Given the description of an element on the screen output the (x, y) to click on. 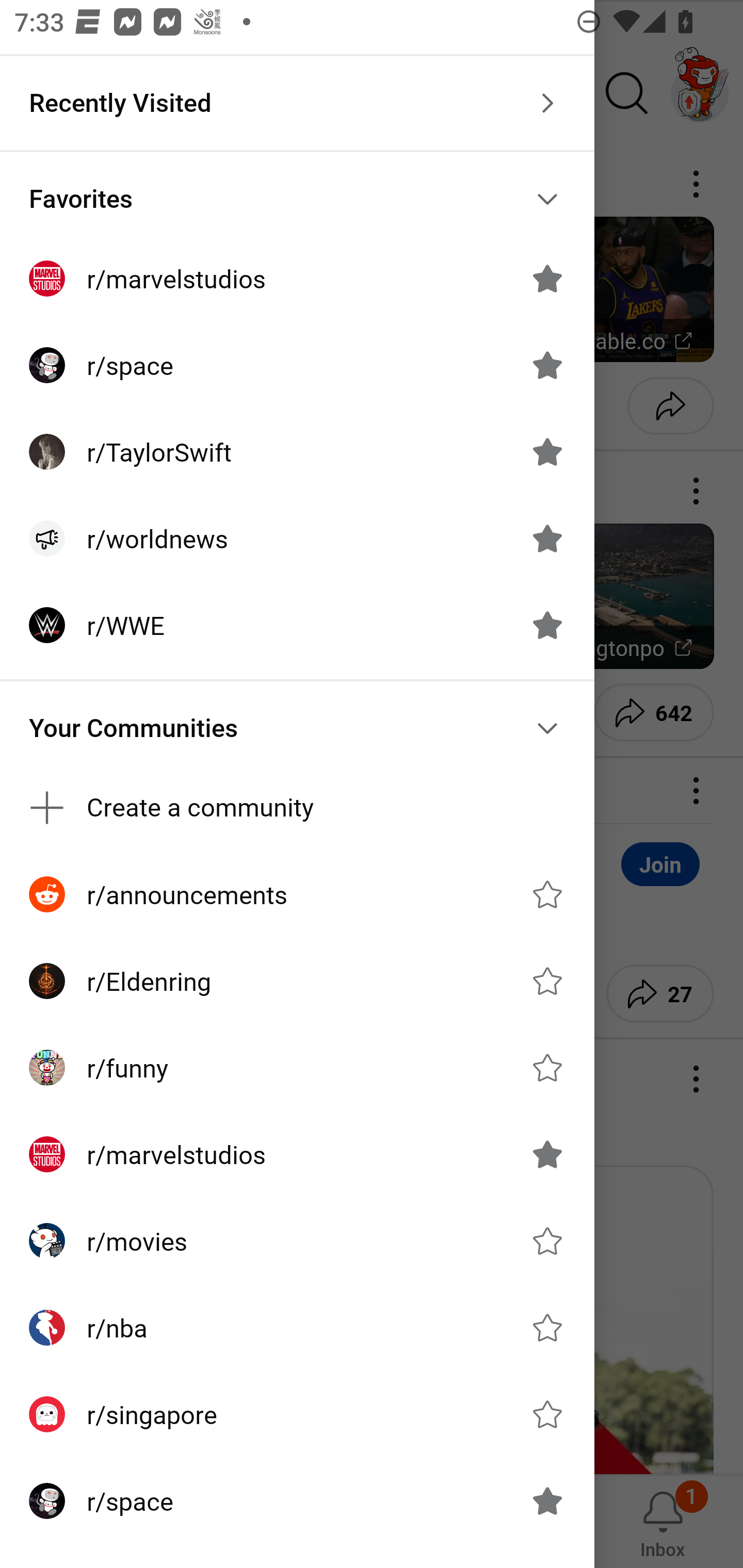
Recently Visited (297, 103)
Favorites (297, 199)
r/marvelstudios Unfavorite r/marvelstudios (297, 278)
Unfavorite r/marvelstudios (546, 278)
r/space Unfavorite r/space (297, 365)
Unfavorite r/space (546, 365)
r/TaylorSwift Unfavorite r/TaylorSwift (297, 452)
Unfavorite r/TaylorSwift (546, 451)
r/worldnews Unfavorite r/worldnews (297, 538)
Unfavorite r/worldnews (546, 538)
r/WWE Unfavorite r/WWE (297, 624)
Unfavorite r/WWE (546, 624)
Your Communities (297, 728)
Create a community (297, 808)
r/announcements Favorite r/announcements (297, 894)
Favorite r/announcements (546, 894)
r/Eldenring Favorite r/Eldenring (297, 980)
Favorite r/Eldenring (546, 980)
r/funny Favorite r/funny (297, 1067)
Favorite r/funny (546, 1067)
r/marvelstudios Unfavorite r/marvelstudios (297, 1154)
Unfavorite r/marvelstudios (546, 1154)
r/movies Favorite r/movies (297, 1240)
Favorite r/movies (546, 1241)
r/nba Favorite r/nba (297, 1327)
Favorite r/nba (546, 1327)
r/singapore Favorite r/singapore (297, 1414)
Favorite r/singapore (546, 1414)
r/space Unfavorite r/space (297, 1501)
Unfavorite r/space (546, 1501)
